Given the description of an element on the screen output the (x, y) to click on. 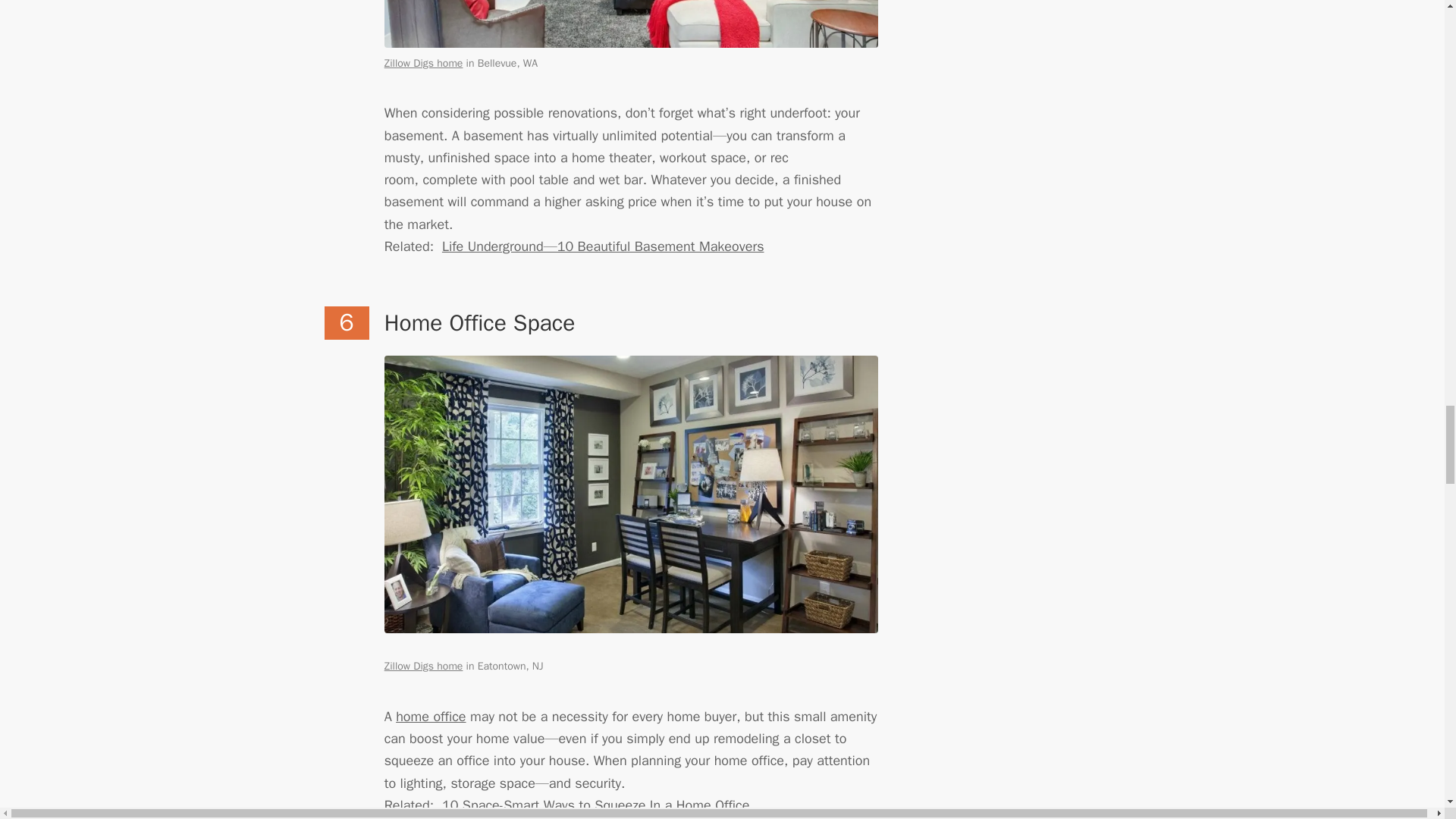
10 Tips for Creating a Home Office That Works for You (430, 716)
Life Underground: 10 Beautiful Basement Makeovers (603, 246)
